Given the description of an element on the screen output the (x, y) to click on. 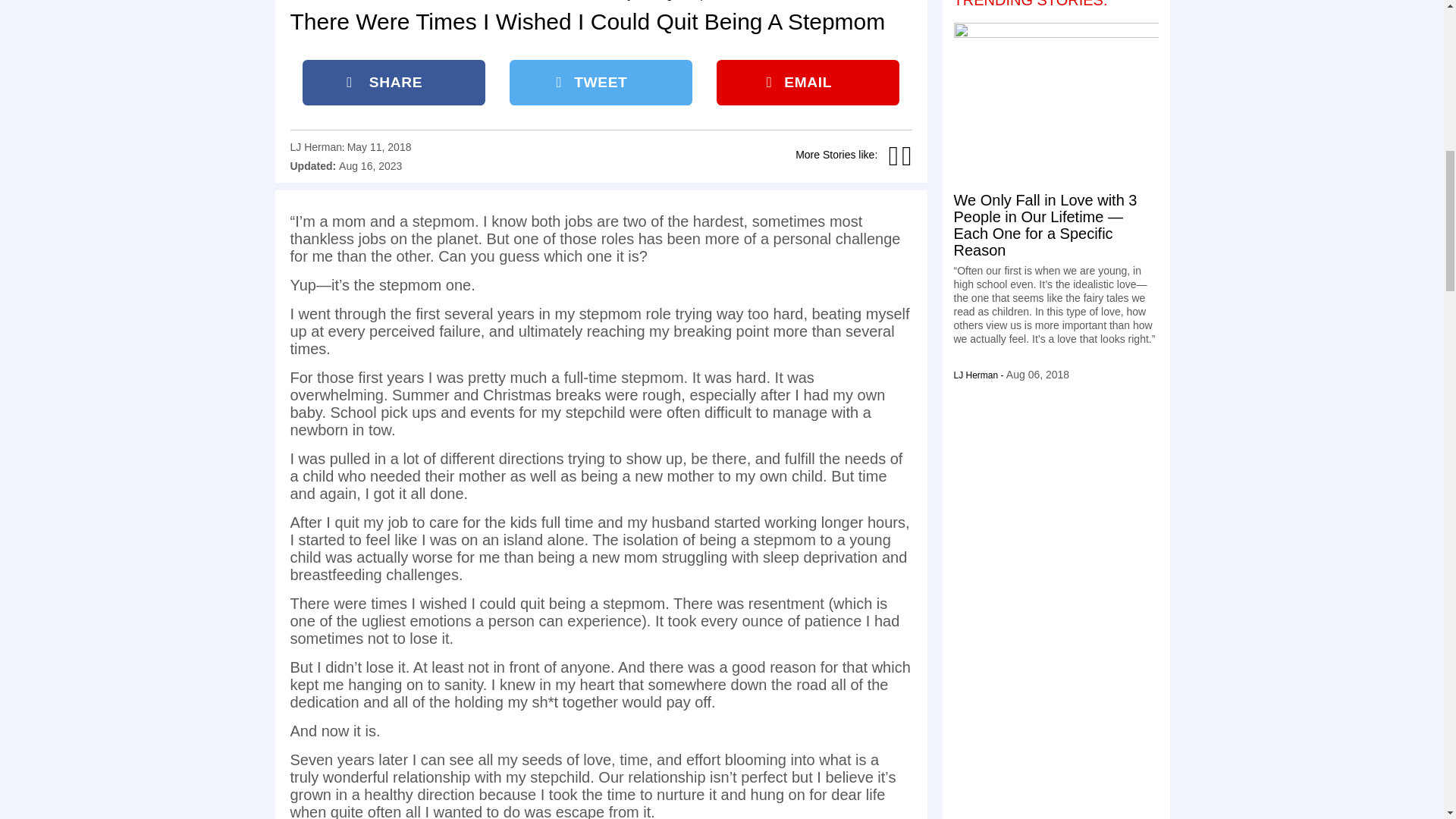
May 11, 2018 (379, 146)
August 16, 2023 (370, 165)
August 6, 2018 (1037, 374)
